Given the description of an element on the screen output the (x, y) to click on. 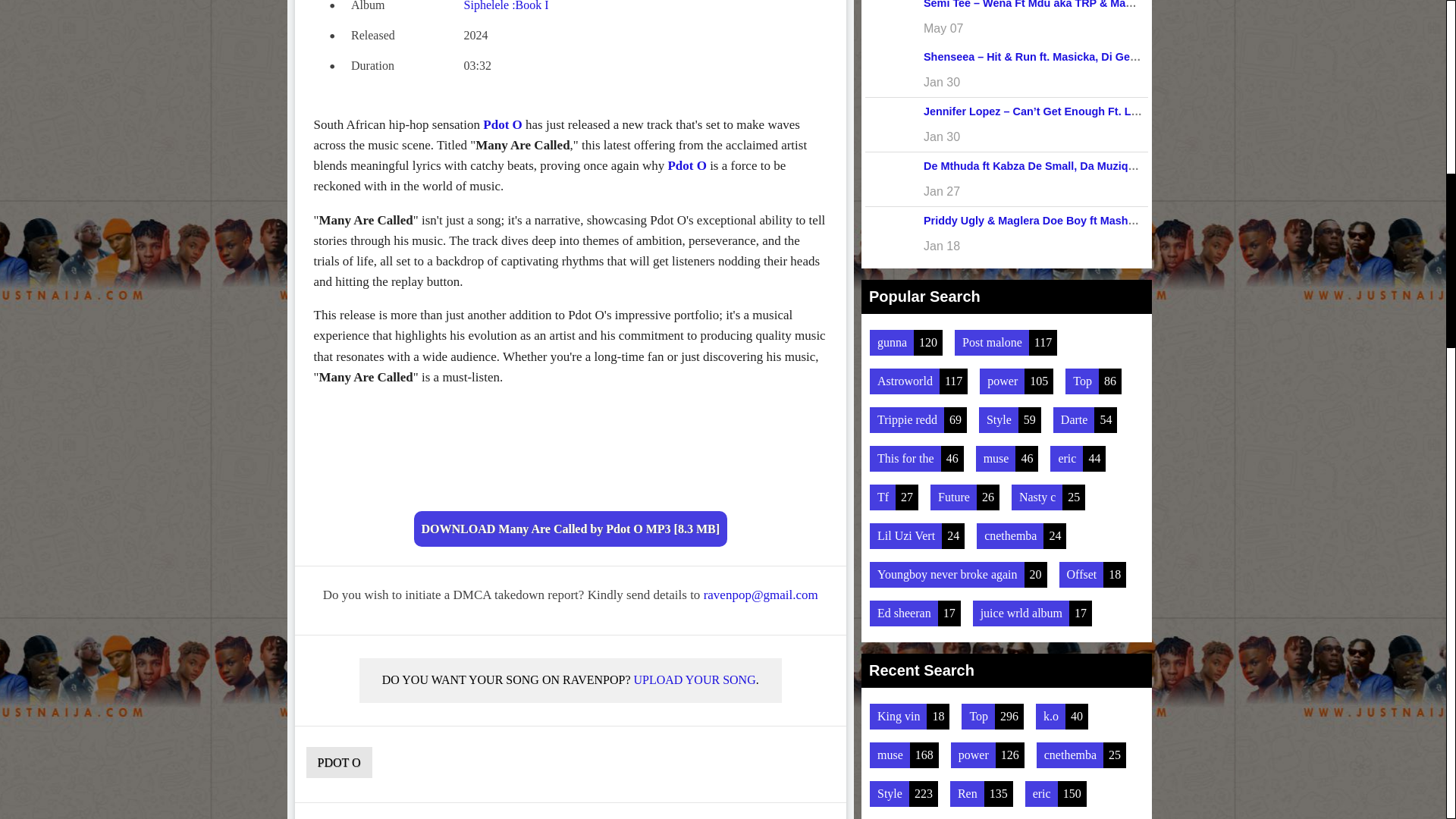
Siphelele :Book I (506, 5)
Music Player (569, 452)
UPLOAD YOUR SONG (694, 679)
PDOT O (338, 762)
Pdot O (686, 165)
Pdot O (502, 124)
